Given the description of an element on the screen output the (x, y) to click on. 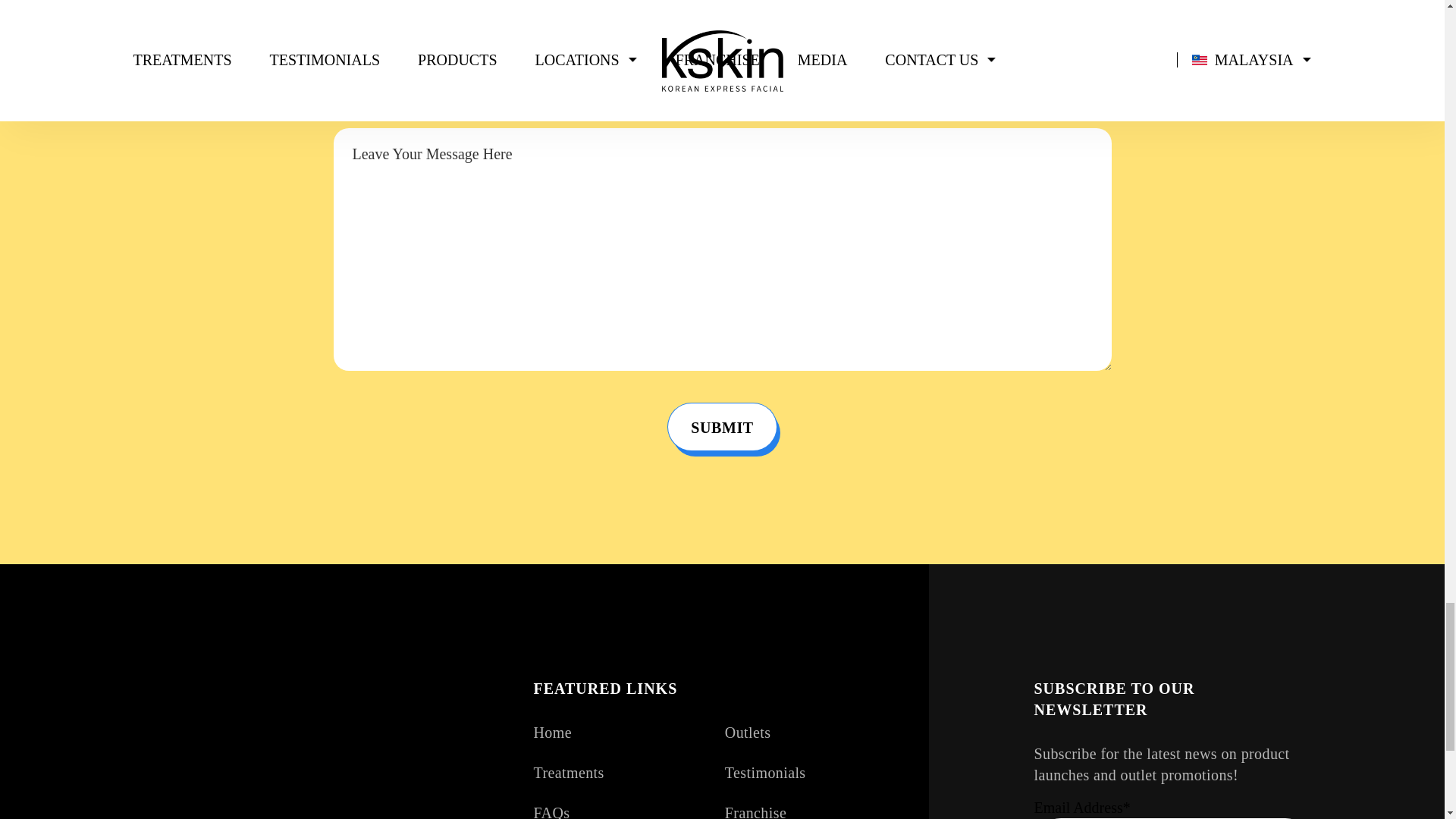
Treatments (569, 772)
Testimonials (765, 772)
FAQs (552, 811)
Submit (722, 426)
Outlets (748, 732)
Submit (722, 426)
Franchise (755, 811)
Home (553, 732)
